Given the description of an element on the screen output the (x, y) to click on. 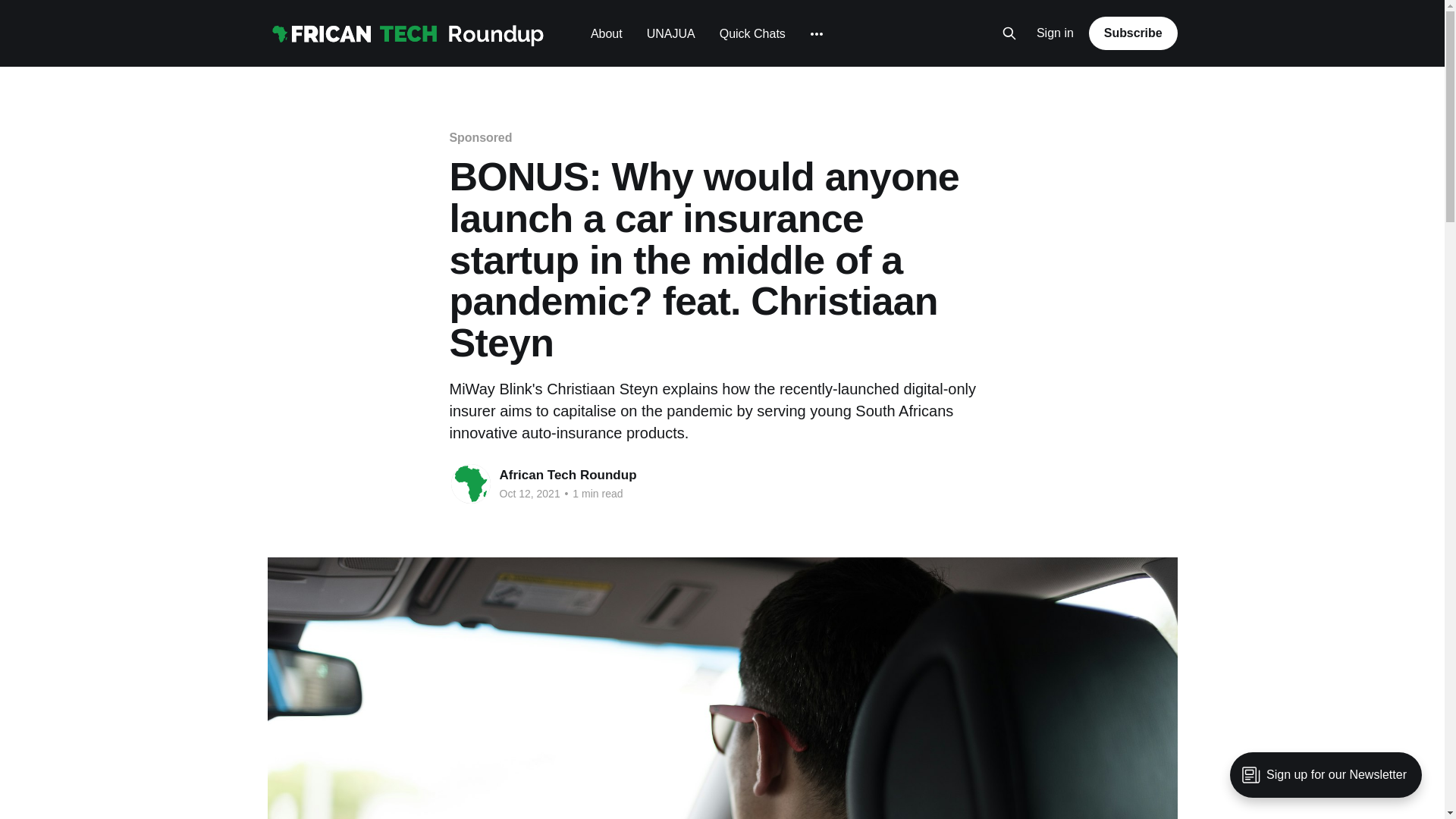
African Tech Roundup (567, 474)
Subscribe (1133, 32)
UNAJUA (670, 33)
Sign in (1055, 33)
About (607, 33)
Sponsored (480, 137)
Quick Chats (752, 33)
